Given the description of an element on the screen output the (x, y) to click on. 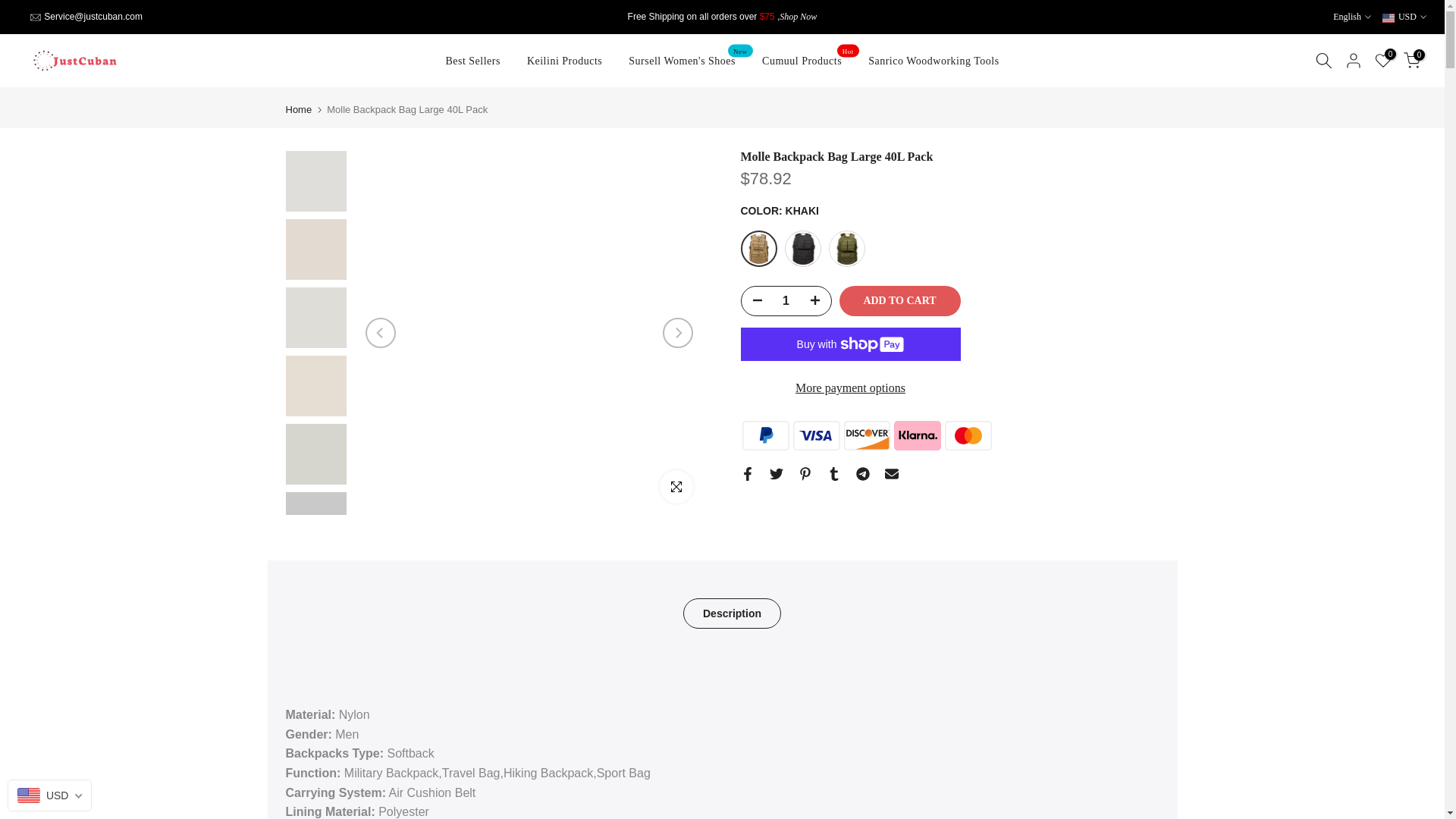
Best Sellers (472, 61)
Share on Tumblr (833, 473)
Khaki (757, 248)
Black (802, 248)
ADD TO CART (898, 300)
English (1352, 16)
Share on Pinterest (803, 473)
1 (786, 300)
Sanrico Woodworking Tools (933, 61)
Skip to content (10, 7)
Share on Email (890, 473)
Home (298, 109)
0 (1382, 60)
Description (731, 613)
Share on Facebook (746, 473)
